Given the description of an element on the screen output the (x, y) to click on. 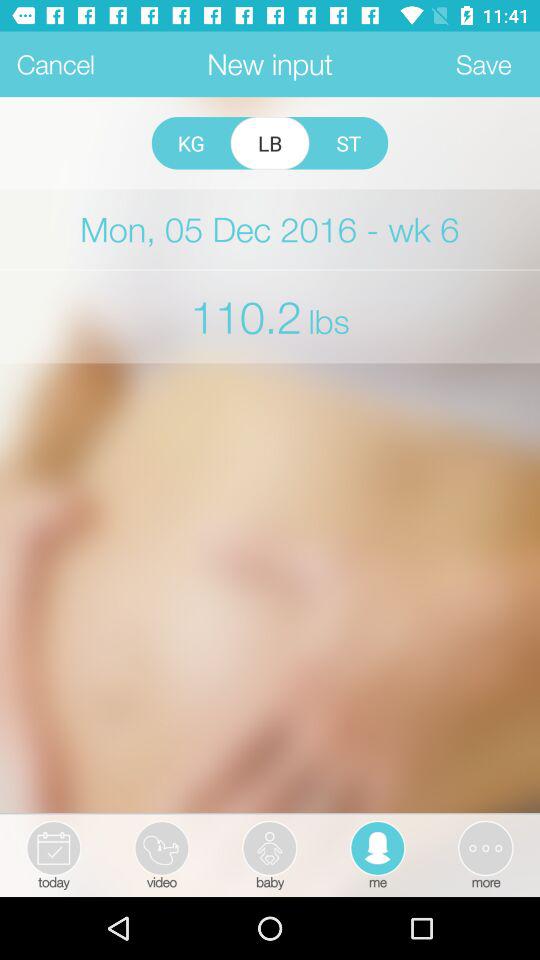
select app below new input icon (348, 143)
